Given the description of an element on the screen output the (x, y) to click on. 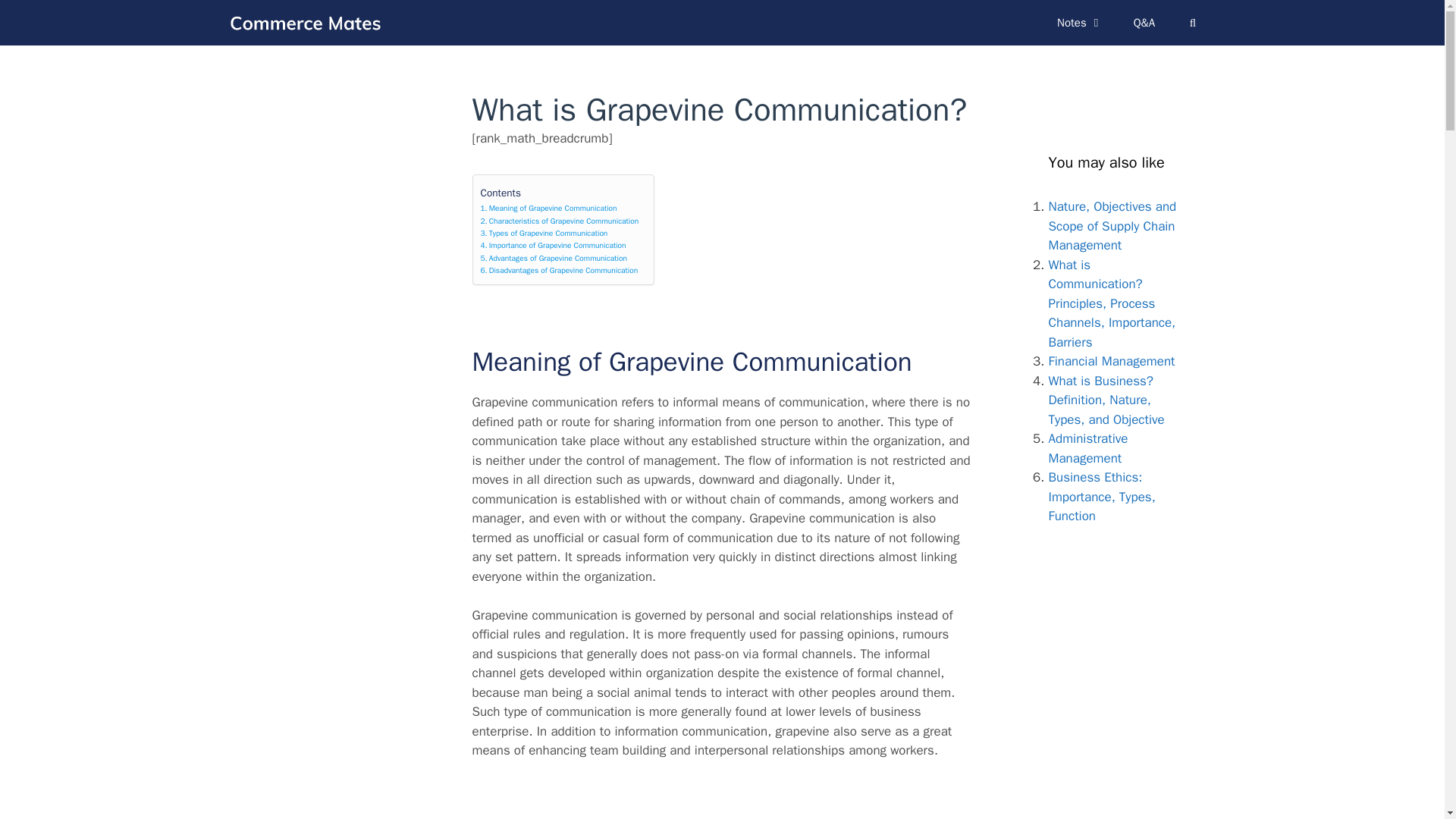
Types of Grapevine Communication (544, 233)
Importance of Grapevine Communication (553, 245)
Notes (1080, 22)
CommerceMates (304, 22)
Disadvantages of Grapevine Communication (559, 270)
Meaning of Grapevine Communication (548, 208)
CommerceMates (308, 22)
Characteristics of Grapevine Communication (559, 221)
Advantages of Grapevine Communication (553, 258)
